Given the description of an element on the screen output the (x, y) to click on. 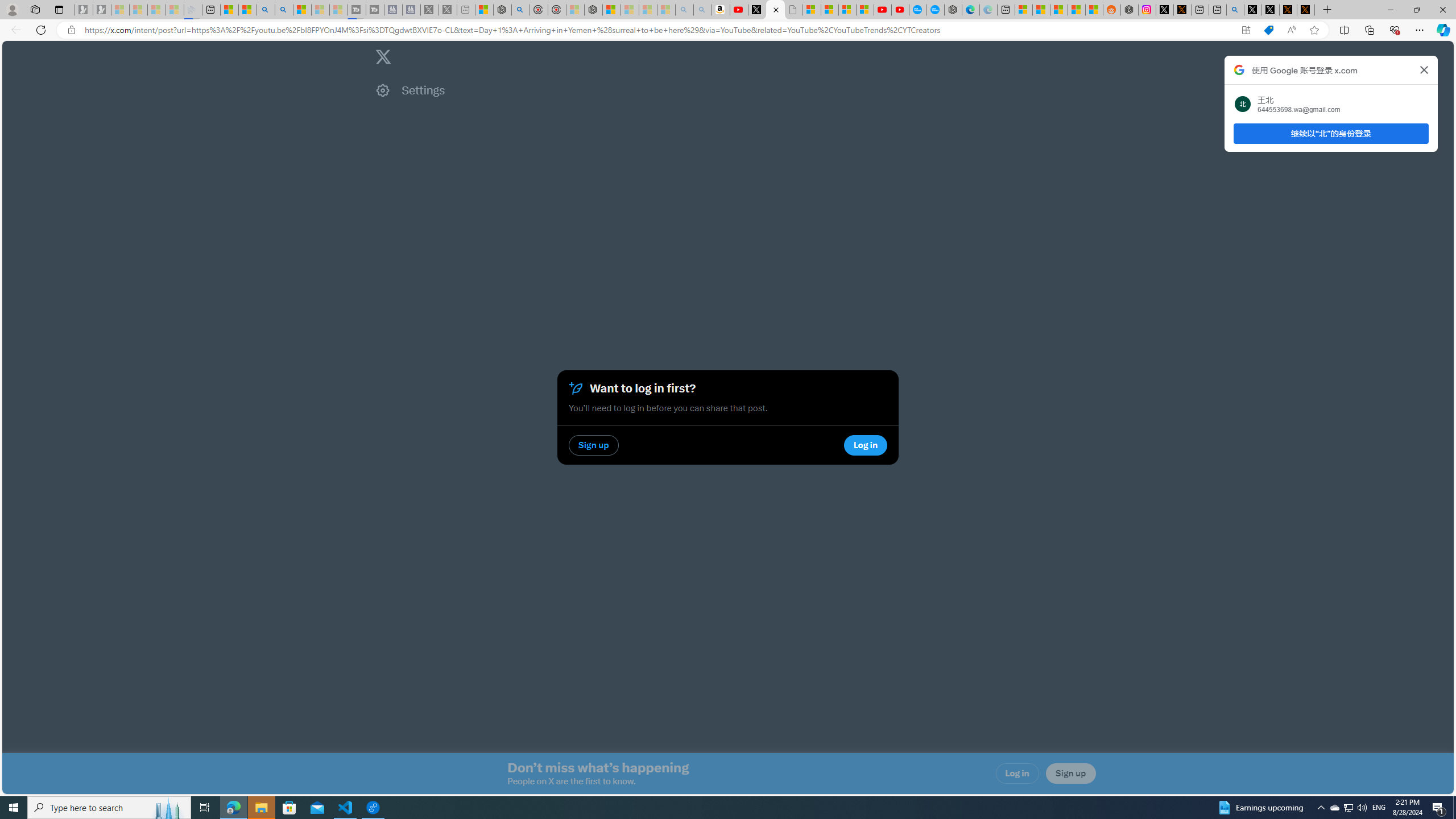
Read aloud this page (Ctrl+Shift+U) (1291, 29)
Restore (1416, 9)
Collections (1369, 29)
Wildlife - MSN (483, 9)
X (775, 9)
Shanghai, China Weather trends | Microsoft Weather (1094, 9)
Split screen (1344, 29)
App available. Install X (1245, 29)
amazon - Search - Sleeping (684, 9)
